Given the description of an element on the screen output the (x, y) to click on. 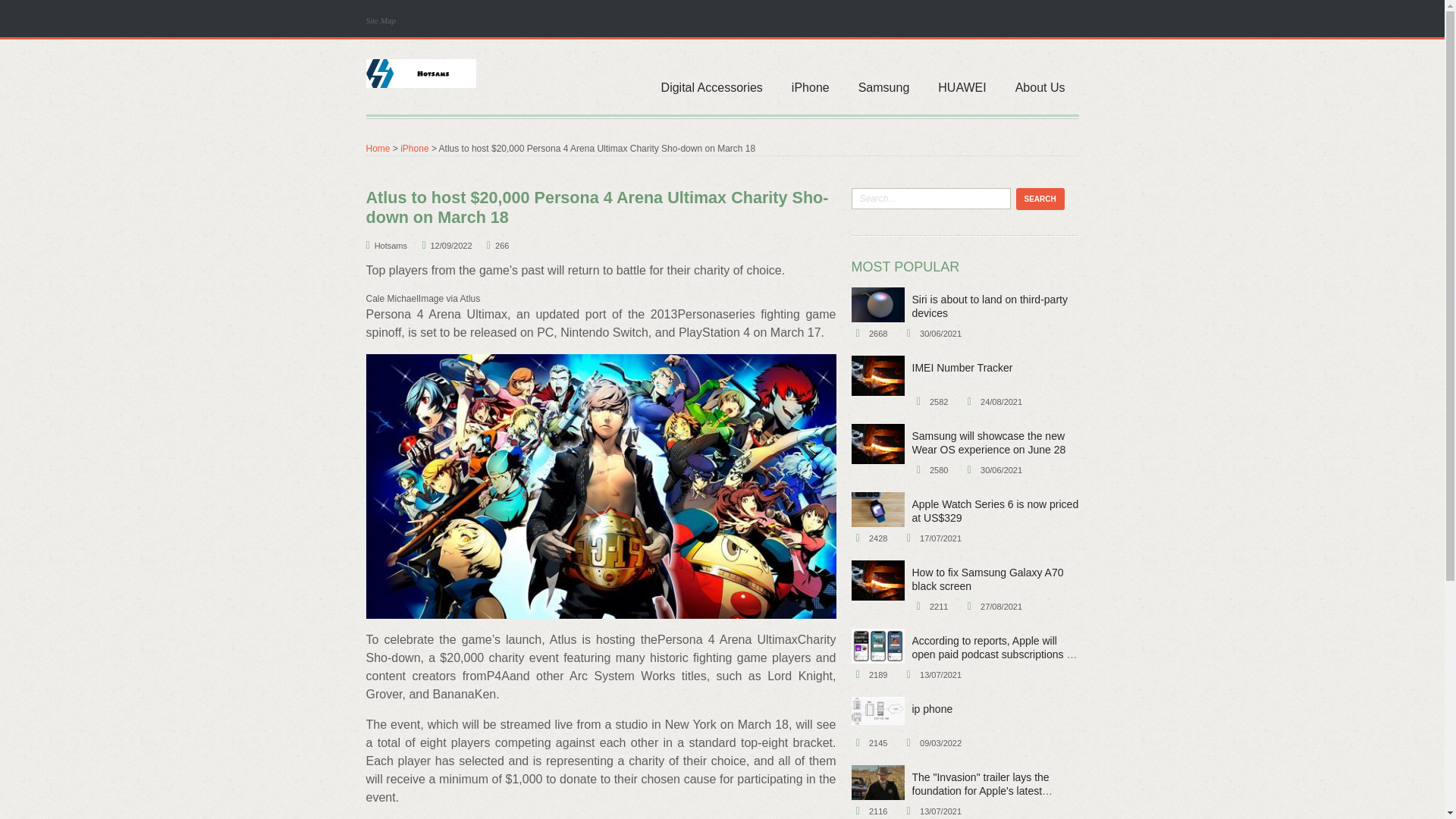
Site Map (384, 20)
Siri is about to land on third-party devices (989, 306)
HUAWEI (961, 78)
IMEI Number Tracker (961, 367)
Hotsams (420, 72)
Home (377, 148)
About Us (1039, 78)
Samsung will showcase the new Wear OS experience on June 28 (877, 444)
Search (1040, 198)
